Given the description of an element on the screen output the (x, y) to click on. 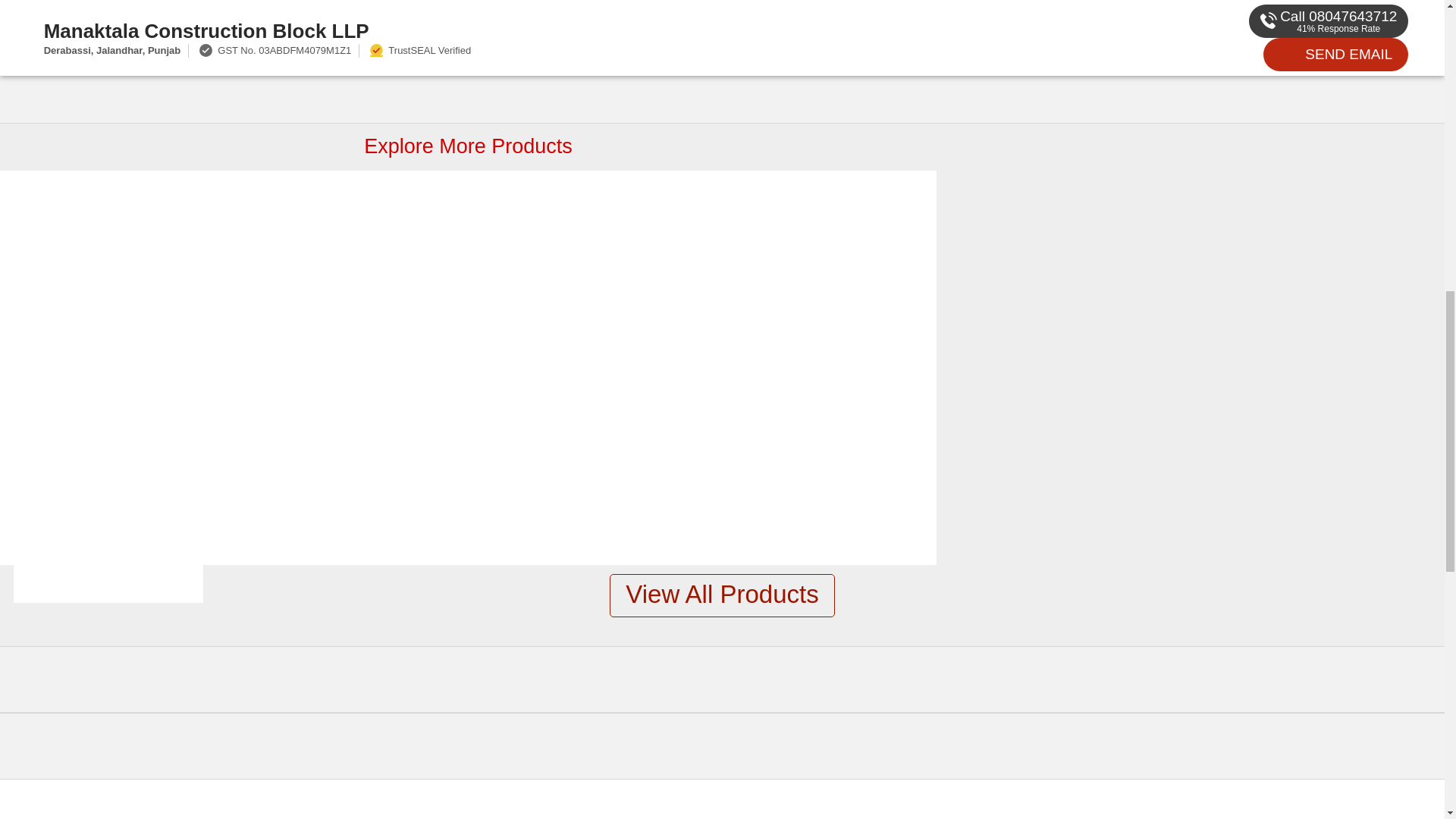
View All Products (722, 595)
